Given the description of an element on the screen output the (x, y) to click on. 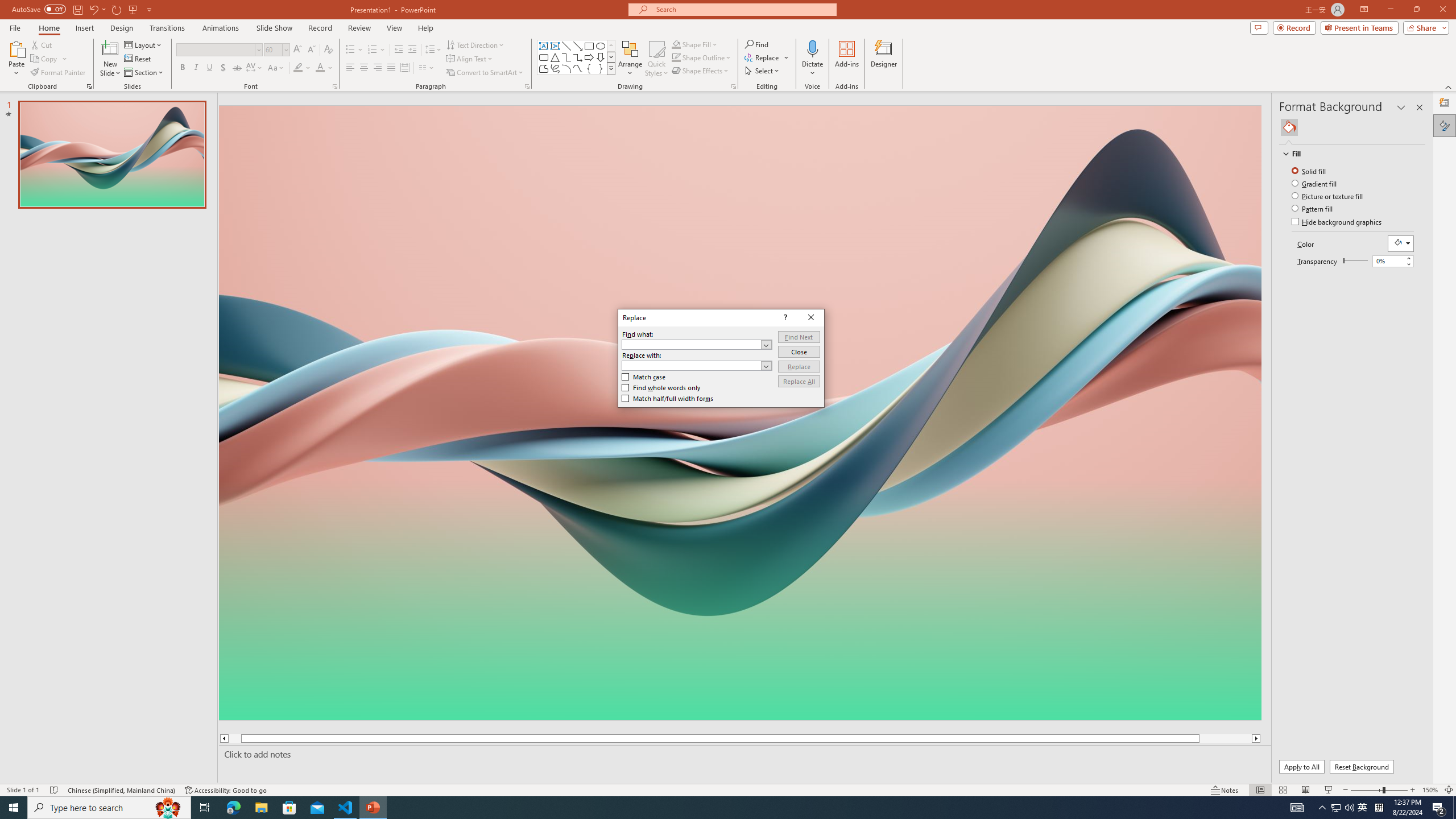
Pattern fill (1313, 208)
Class: NetUIGalleryContainer (1352, 126)
Fill (1288, 126)
Transparency (1388, 260)
